Given the description of an element on the screen output the (x, y) to click on. 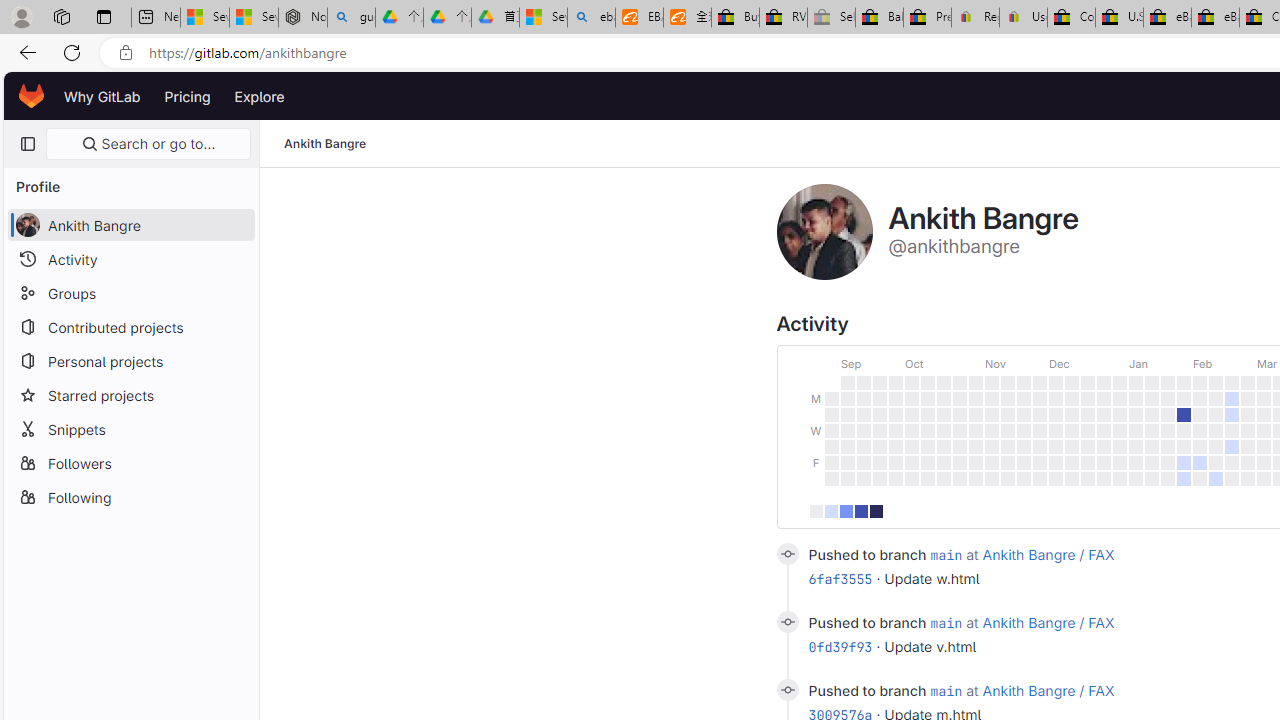
10-19 contributions (845, 510)
Pricing (187, 95)
Followers (130, 462)
Snippets (130, 428)
